Given the description of an element on the screen output the (x, y) to click on. 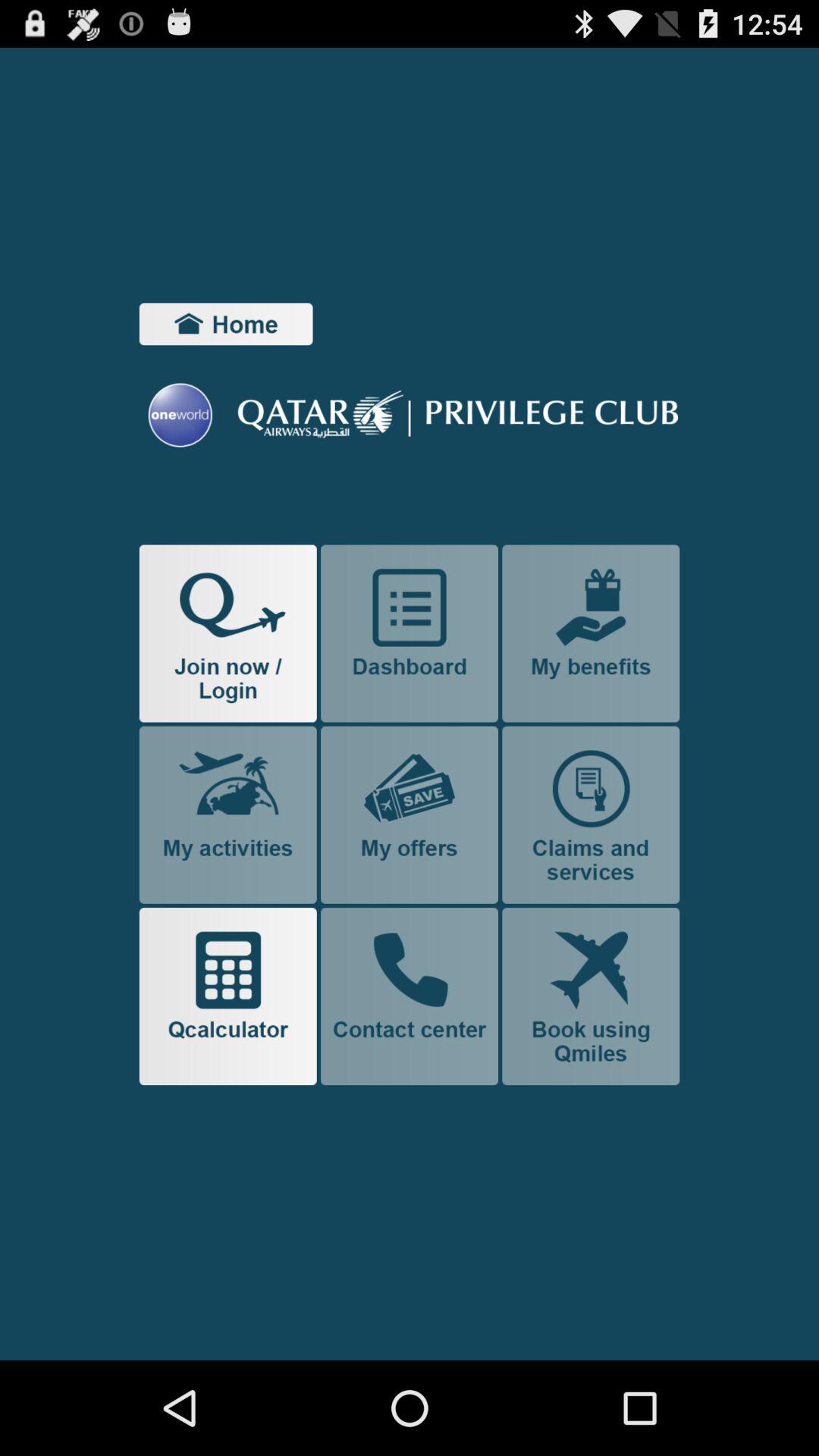
book flights (590, 996)
